Given the description of an element on the screen output the (x, y) to click on. 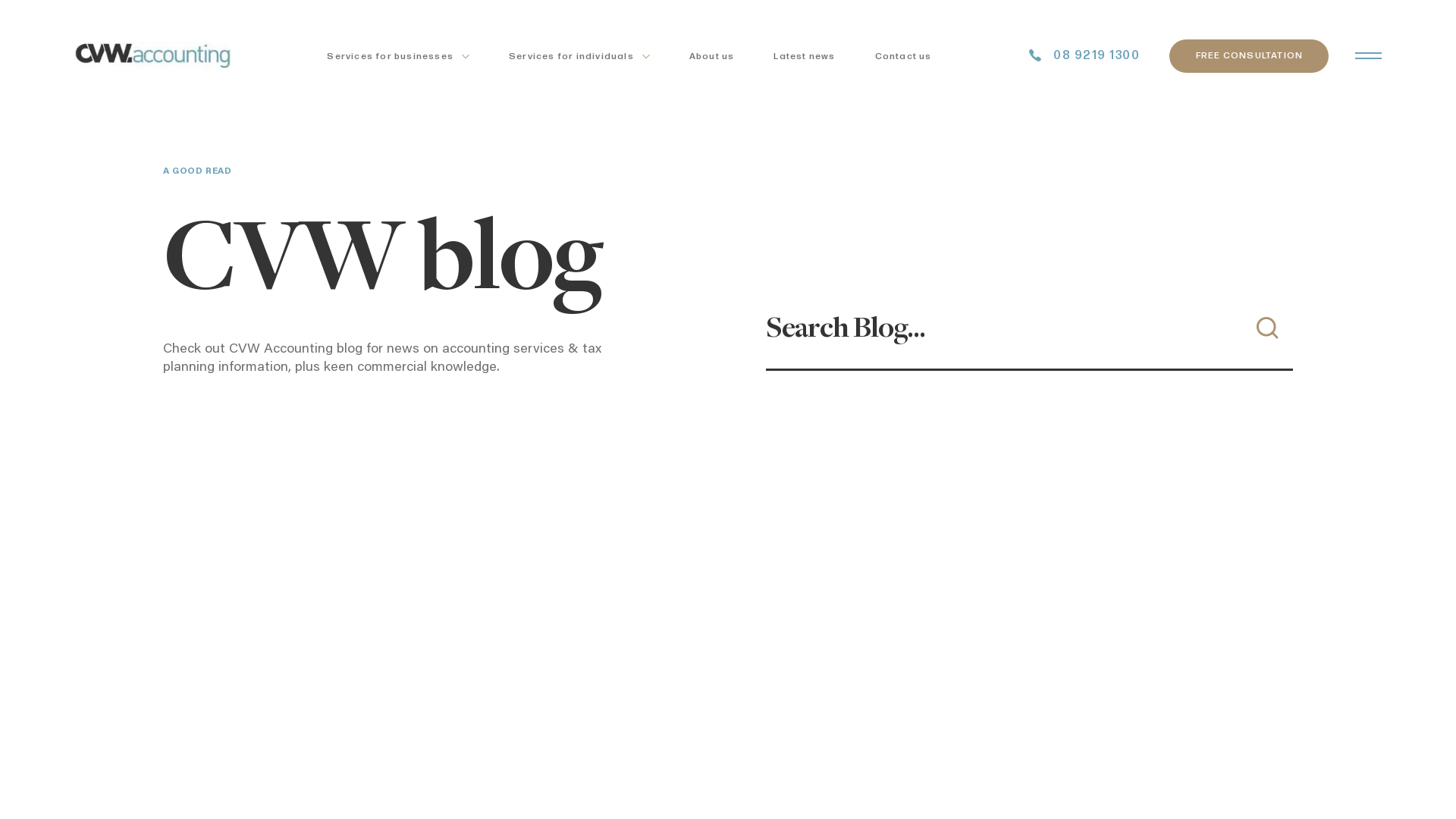
Services for businesses Element type: text (397, 55)
About us Element type: text (711, 55)
FREE CONSULTATION Element type: text (1248, 55)
Latest news Element type: text (803, 55)
Services for individuals Element type: text (578, 55)
08 9219 1300 Element type: text (1084, 55)
Contact us Element type: text (903, 55)
